Given the description of an element on the screen output the (x, y) to click on. 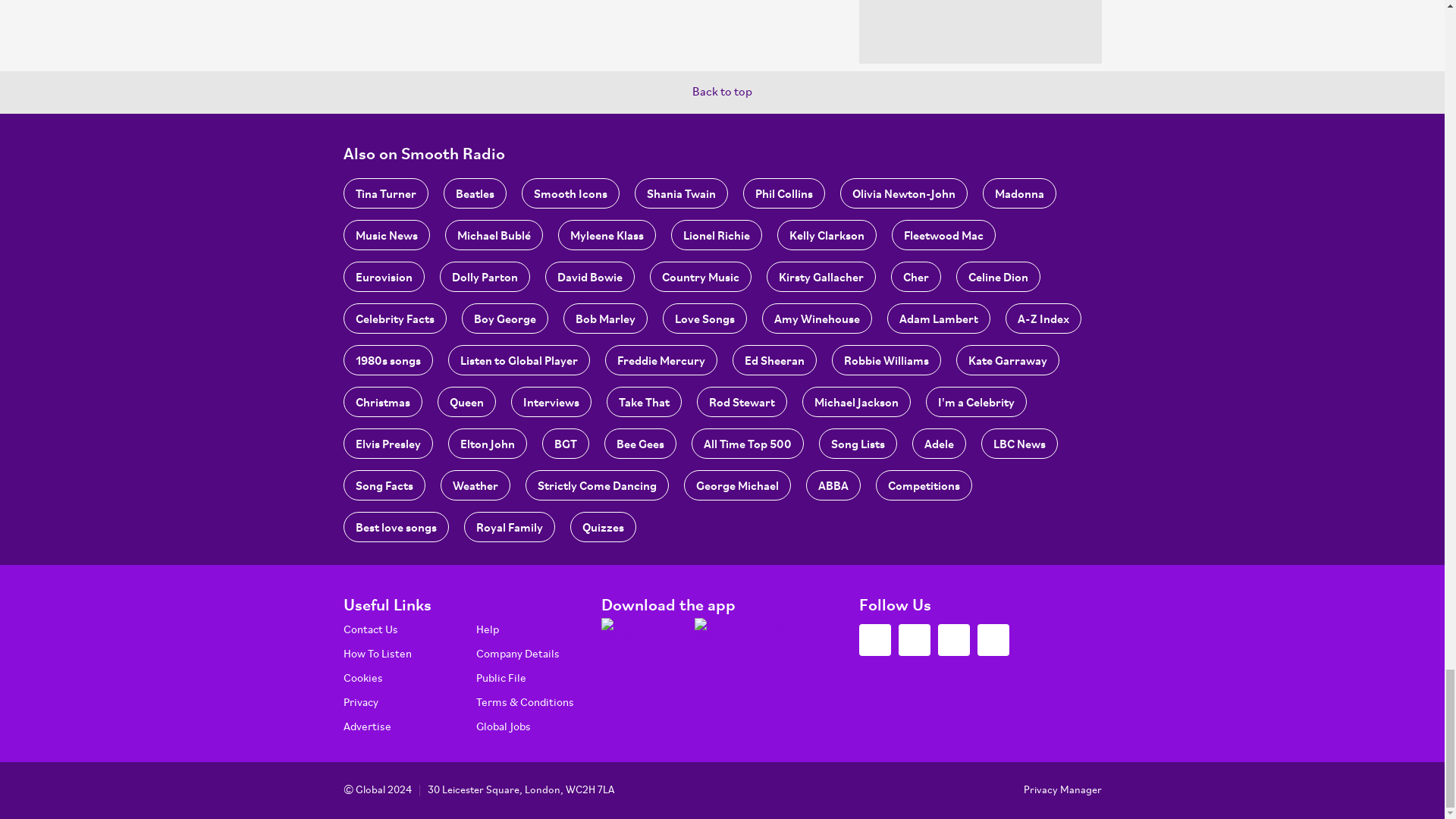
Back to top (722, 92)
Follow Smooth on X (874, 640)
Follow Smooth on Youtube (992, 640)
Follow Smooth on Instagram (953, 640)
Follow Smooth on Facebook (914, 640)
